Given the description of an element on the screen output the (x, y) to click on. 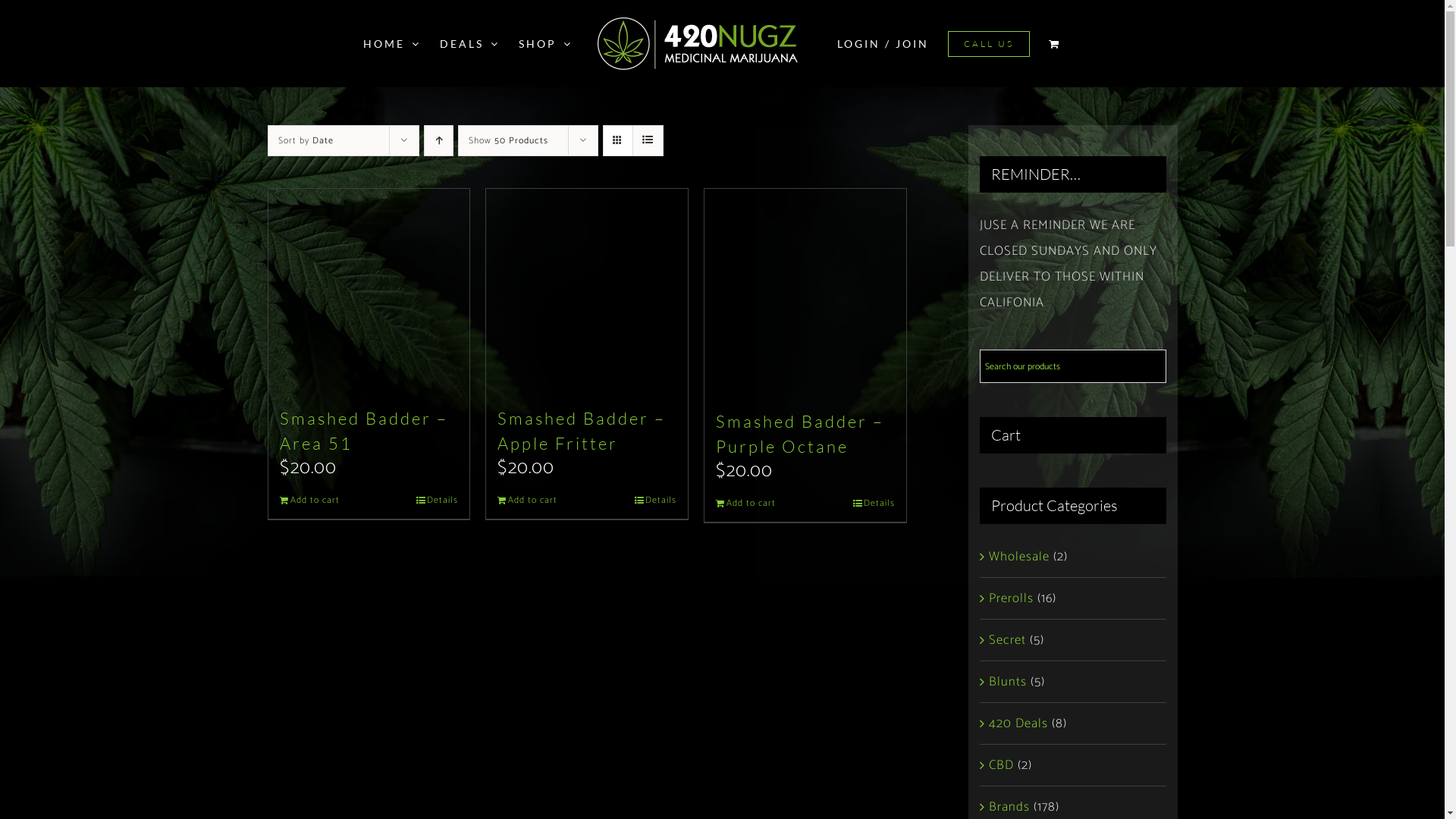
Details Element type: text (655, 500)
420 Deals Element type: text (1018, 723)
Wholesale Element type: text (1018, 556)
Details Element type: text (873, 503)
Show 50 Products Element type: text (508, 140)
LOGIN / JOIN Element type: text (882, 43)
CBD Element type: text (1000, 764)
Brands Element type: text (1008, 806)
HOME Element type: text (391, 43)
DEALS Element type: text (469, 43)
CALL US Element type: text (988, 43)
Secret Element type: text (1007, 639)
Add to cart Element type: text (308, 500)
Add to cart Element type: text (745, 503)
SHOP Element type: text (545, 43)
Prerolls Element type: text (1010, 597)
Details Element type: text (437, 500)
Add to cart Element type: text (527, 500)
Blunts Element type: text (1007, 681)
Sort by Date Element type: text (304, 140)
